Given the description of an element on the screen output the (x, y) to click on. 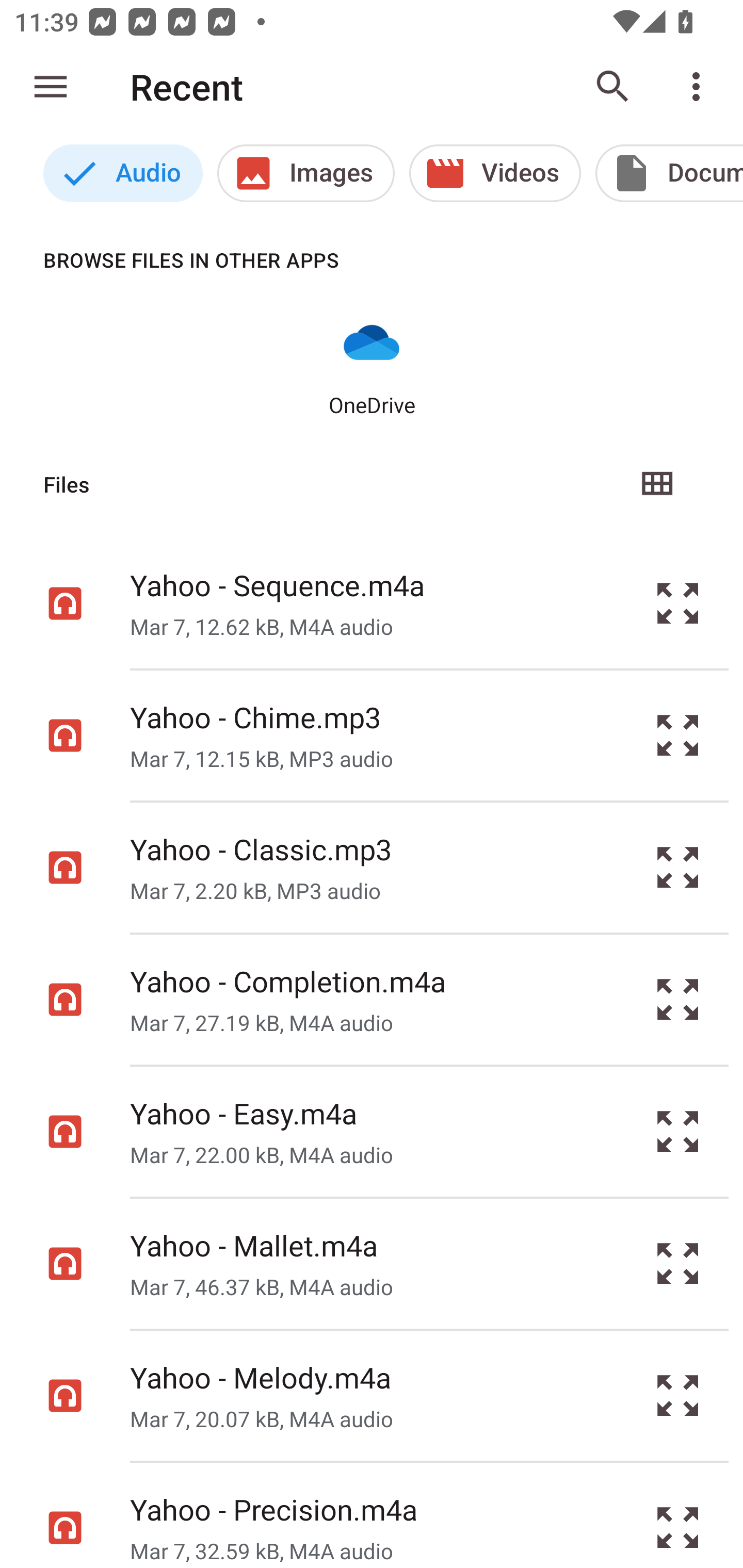
Show roots (50, 86)
Search (612, 86)
More options (699, 86)
Audio (122, 173)
Images (305, 173)
Videos (495, 173)
Documents (669, 173)
OneDrive (371, 365)
Grid view (655, 484)
Preview the file Yahoo - Sequence.m4a (677, 602)
Preview the file Yahoo - Chime.mp3 (677, 736)
Preview the file Yahoo - Classic.mp3 (677, 867)
Preview the file Yahoo - Completion.m4a (677, 999)
Preview the file Yahoo - Easy.m4a (677, 1131)
Preview the file Yahoo - Mallet.m4a (677, 1262)
Preview the file Yahoo - Melody.m4a (677, 1396)
Preview the file Yahoo - Precision.m4a (677, 1515)
